Given the description of an element on the screen output the (x, y) to click on. 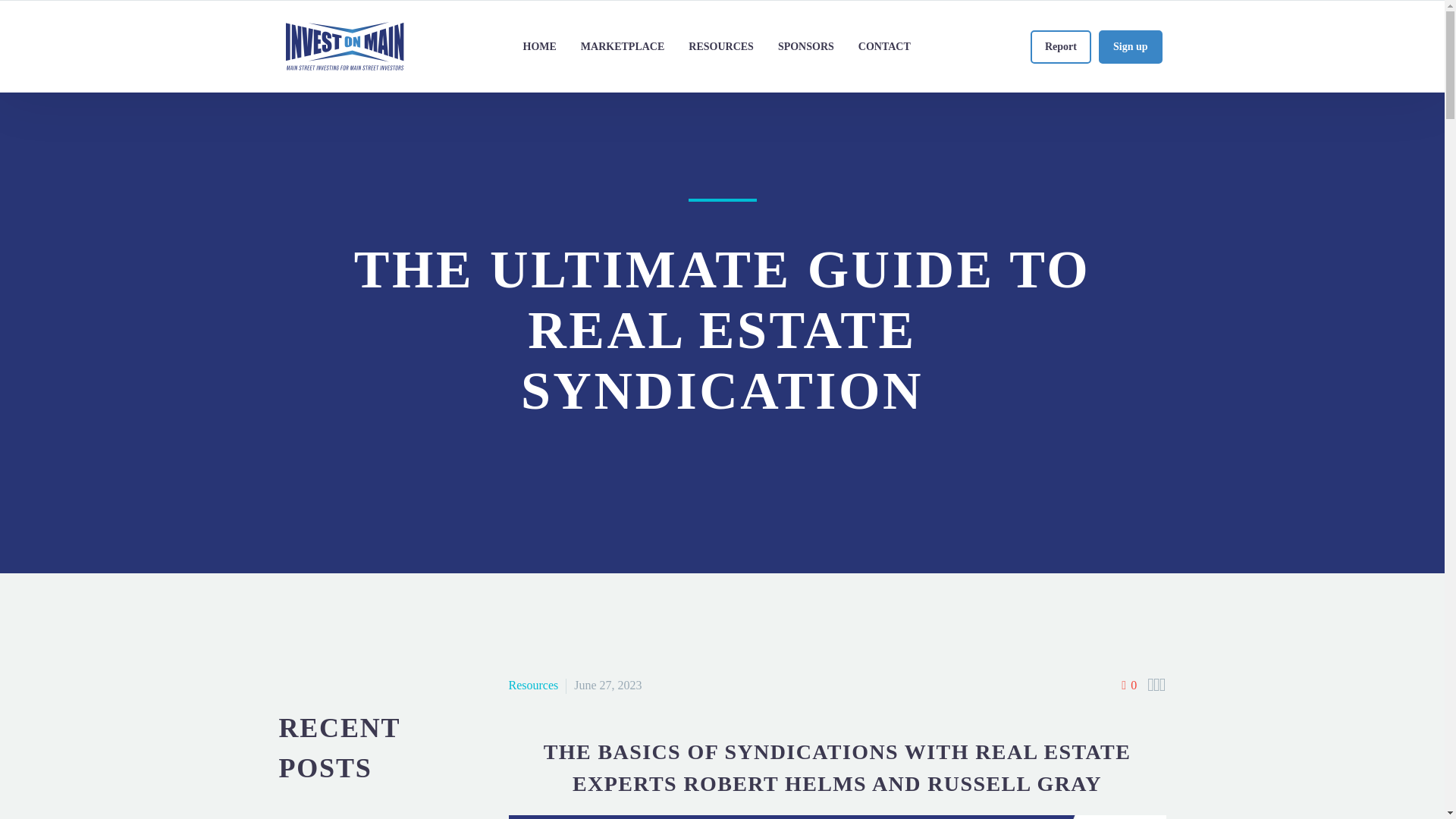
HOME (540, 46)
Sign up (1130, 46)
RESOURCES (721, 46)
CONTACT (884, 46)
SPONSORS (805, 46)
View all posts in Resources (532, 684)
MARKETPLACE (623, 46)
Report (1060, 46)
